Given the description of an element on the screen output the (x, y) to click on. 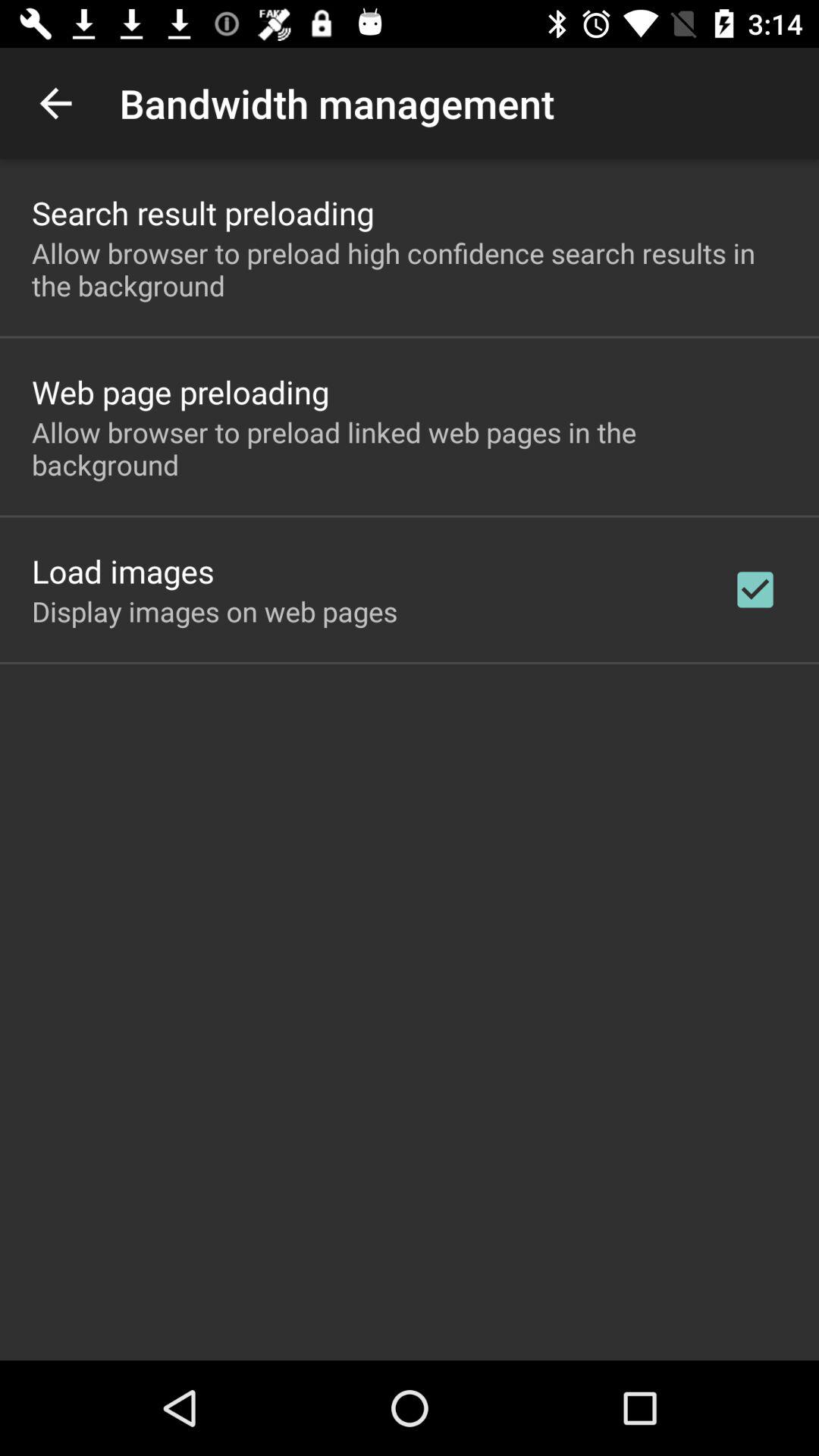
click the icon below the load images (214, 611)
